Given the description of an element on the screen output the (x, y) to click on. 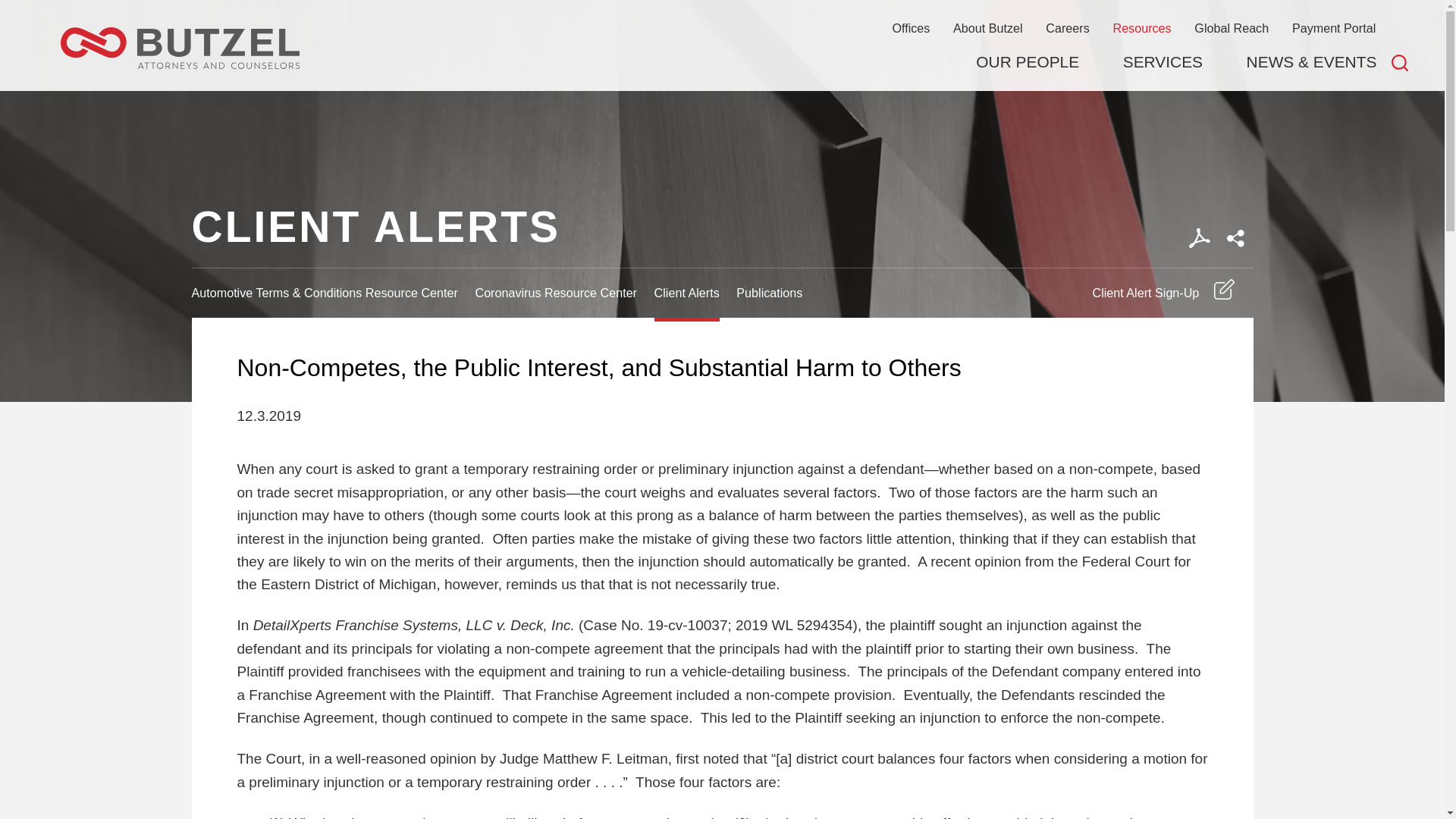
OUR PEOPLE (1026, 61)
Search (1399, 62)
Main Menu (674, 19)
SERVICES (1162, 61)
Menu (674, 19)
Share (1235, 238)
Main Content (667, 19)
